Given the description of an element on the screen output the (x, y) to click on. 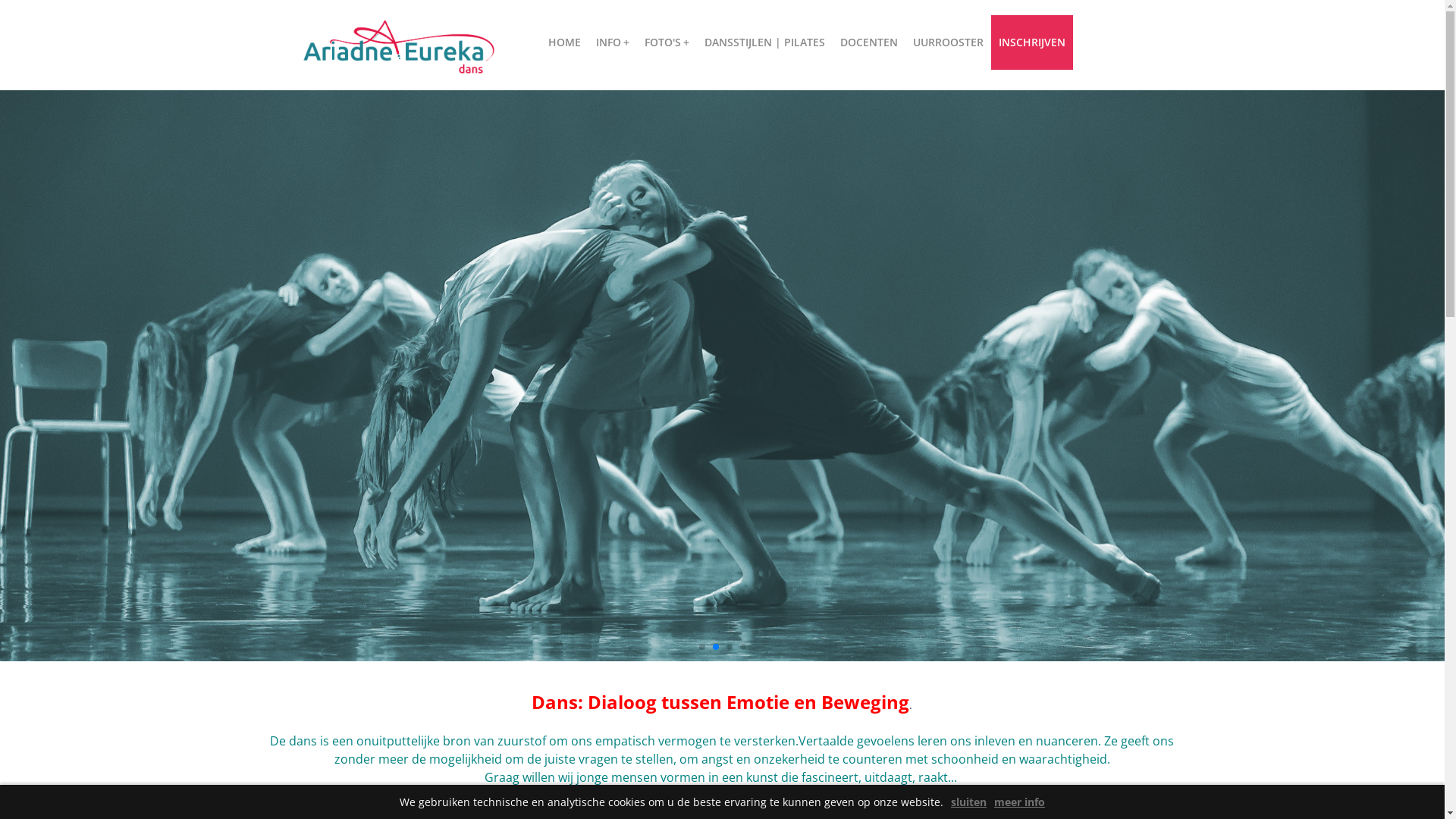
sluiten Element type: text (968, 801)
UURROOSTER Element type: text (948, 42)
FOTO'S+ Element type: text (666, 42)
HOME Element type: text (563, 42)
DANSSTIJLEN | PILATES Element type: text (763, 42)
INSCHRIJVEN Element type: text (1031, 42)
DOCENTEN Element type: text (868, 42)
meer info Element type: text (1019, 801)
INFO+ Element type: text (612, 42)
